Given the description of an element on the screen output the (x, y) to click on. 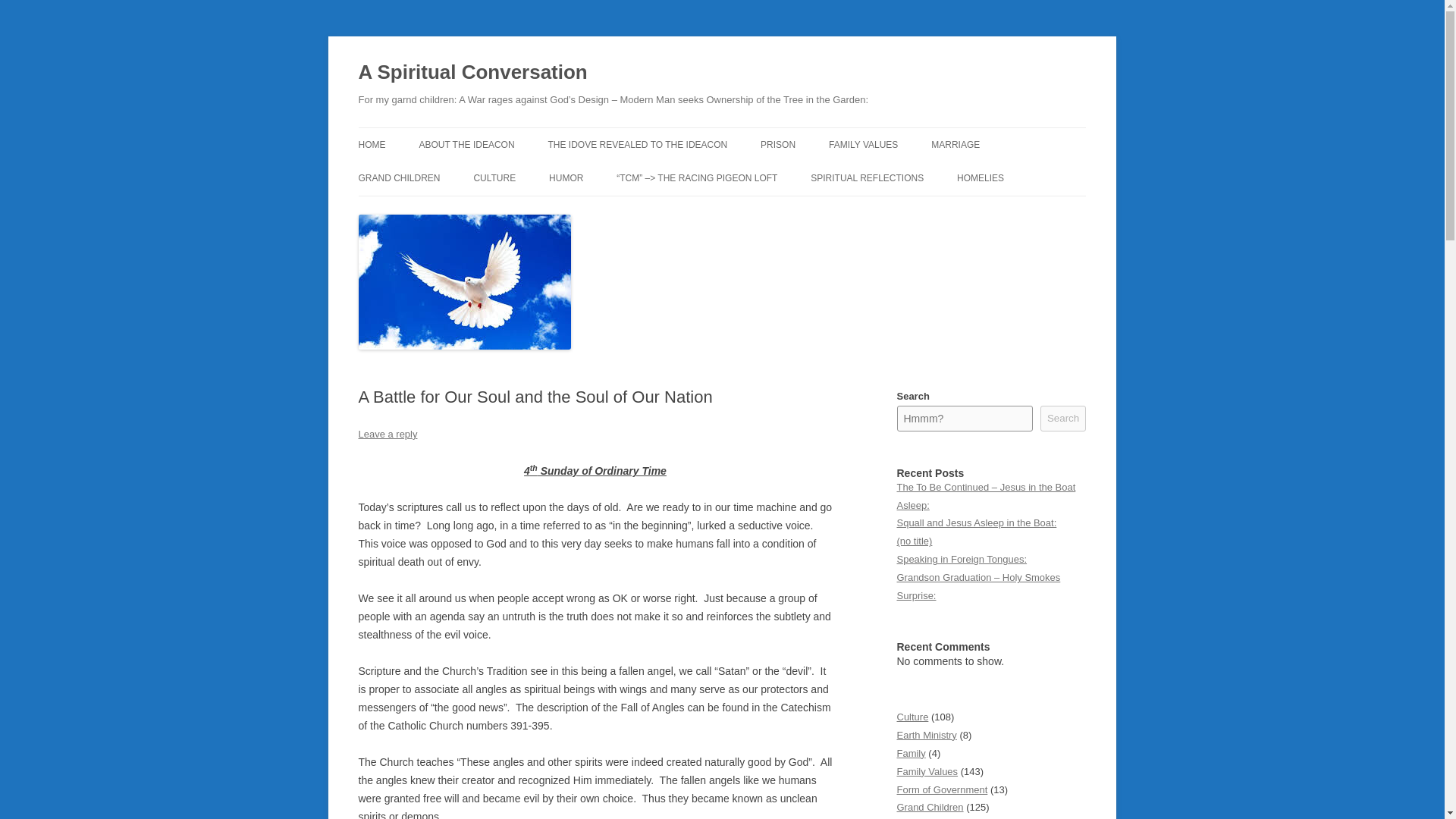
Family Values (927, 771)
SPIRITUAL REFLECTIONS (866, 177)
GRAND CHILDREN (398, 177)
Search (1063, 418)
Leave a reply (387, 433)
ABOUT THE IDEACON (466, 144)
A Spiritual Conversation (472, 72)
FAMILY VALUES (863, 144)
Grand Children (929, 807)
HUMOR (565, 177)
THE IDOVE REVEALED TO THE IDEACON (636, 144)
Form of Government (941, 789)
HOMELIES (980, 177)
Culture (912, 716)
